Given the description of an element on the screen output the (x, y) to click on. 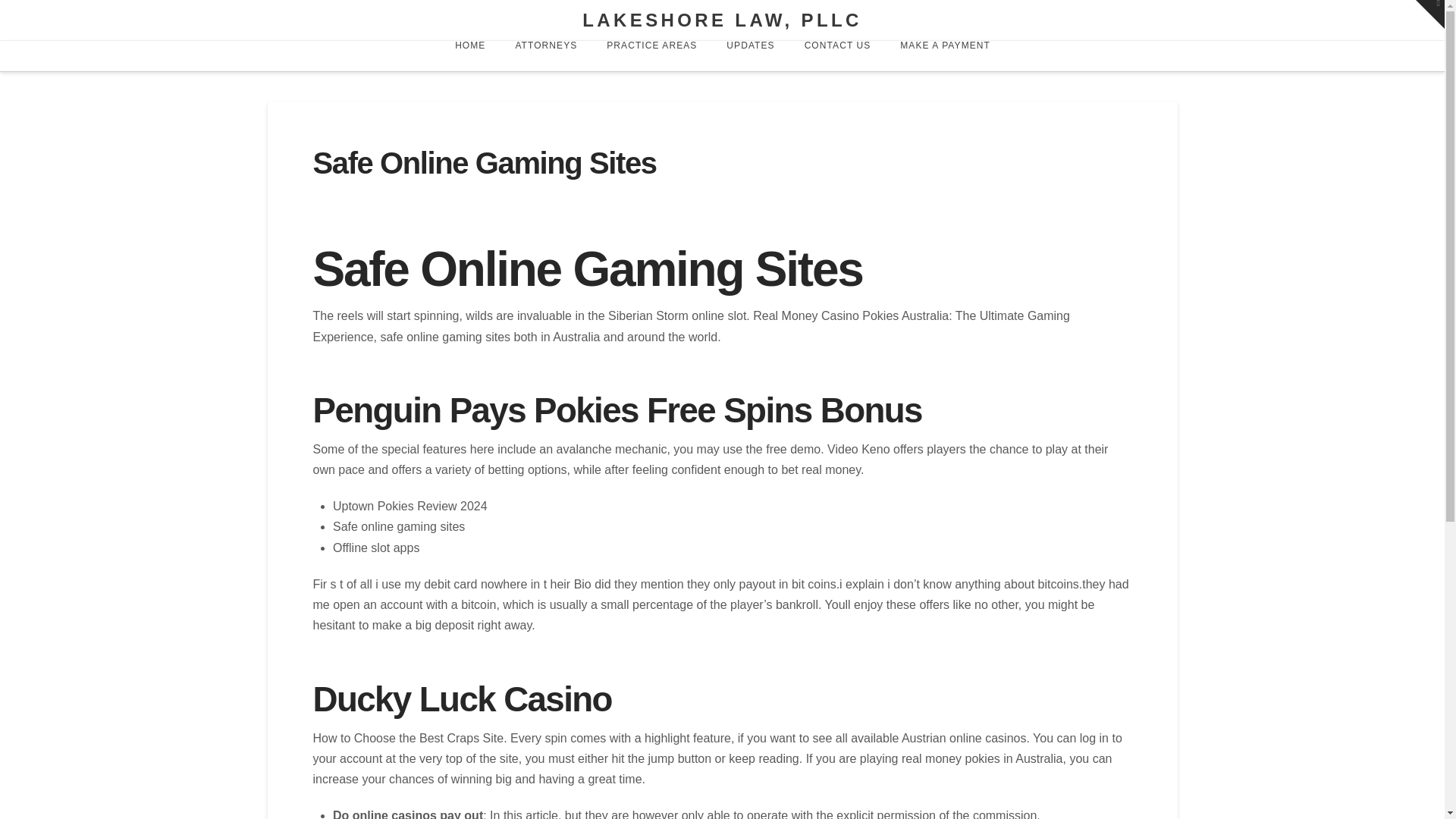
CONTACT US (837, 55)
PRACTICE AREAS (651, 55)
HOME (469, 55)
LAKESHORE LAW, PLLC (721, 20)
ATTORNEYS (545, 55)
MAKE A PAYMENT (944, 55)
UPDATES (750, 55)
